Given the description of an element on the screen output the (x, y) to click on. 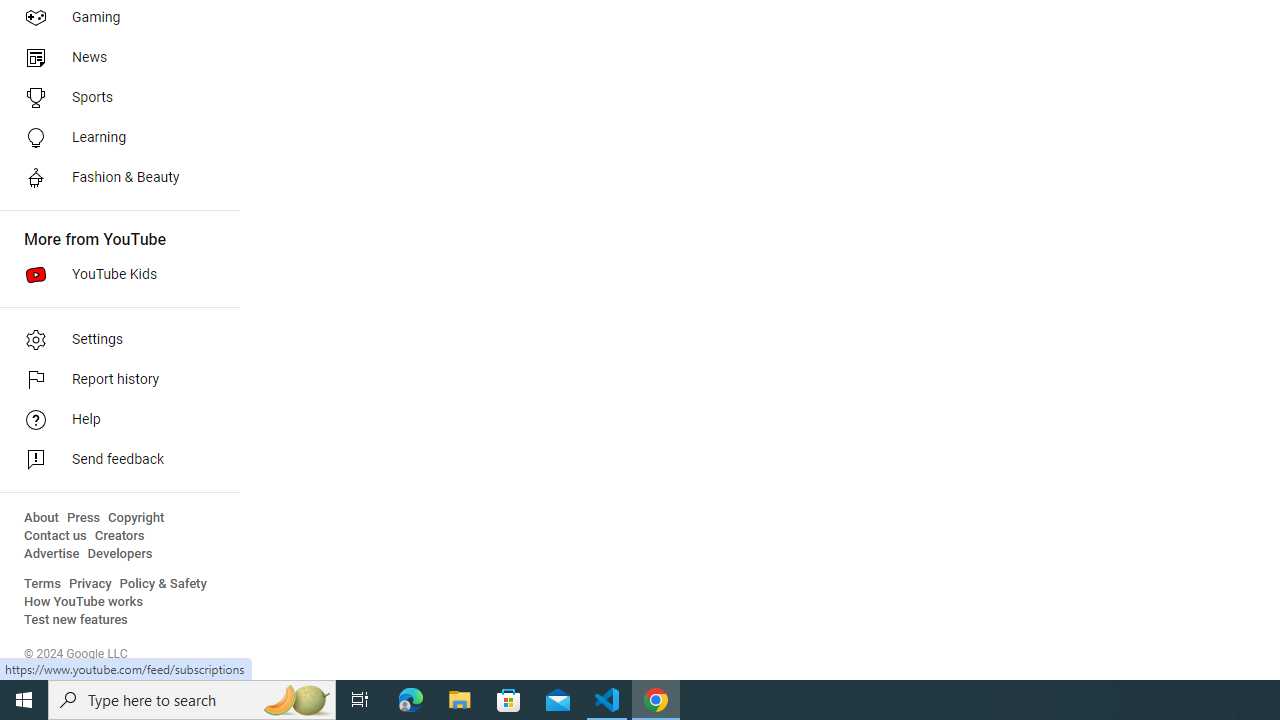
Language Chinese (Simplified, Mainland China) (331, 640)
